Given the description of an element on the screen output the (x, y) to click on. 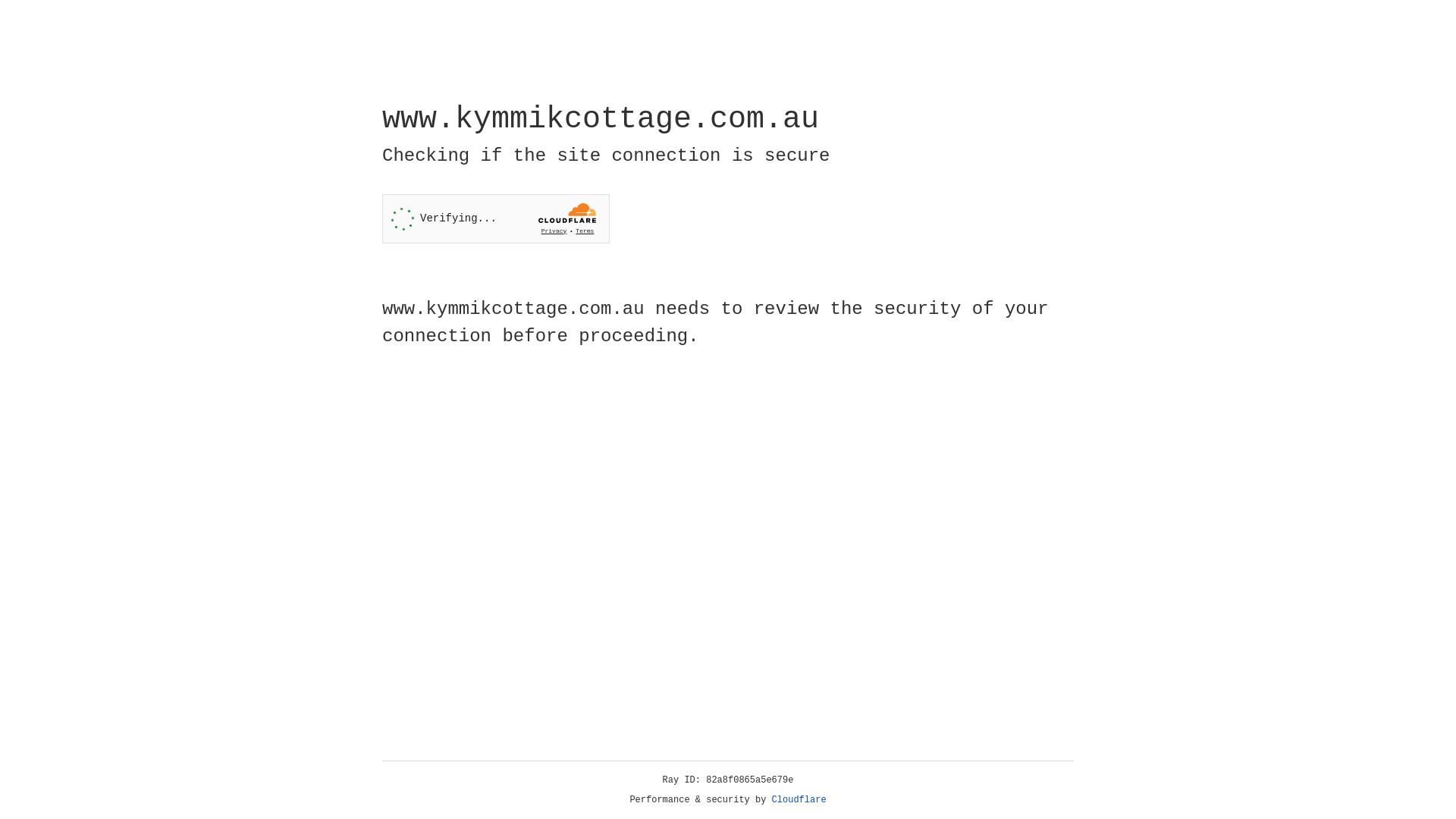
Cloudflare Element type: text (798, 799)
Widget containing a Cloudflare security challenge Element type: hover (495, 218)
